Given the description of an element on the screen output the (x, y) to click on. 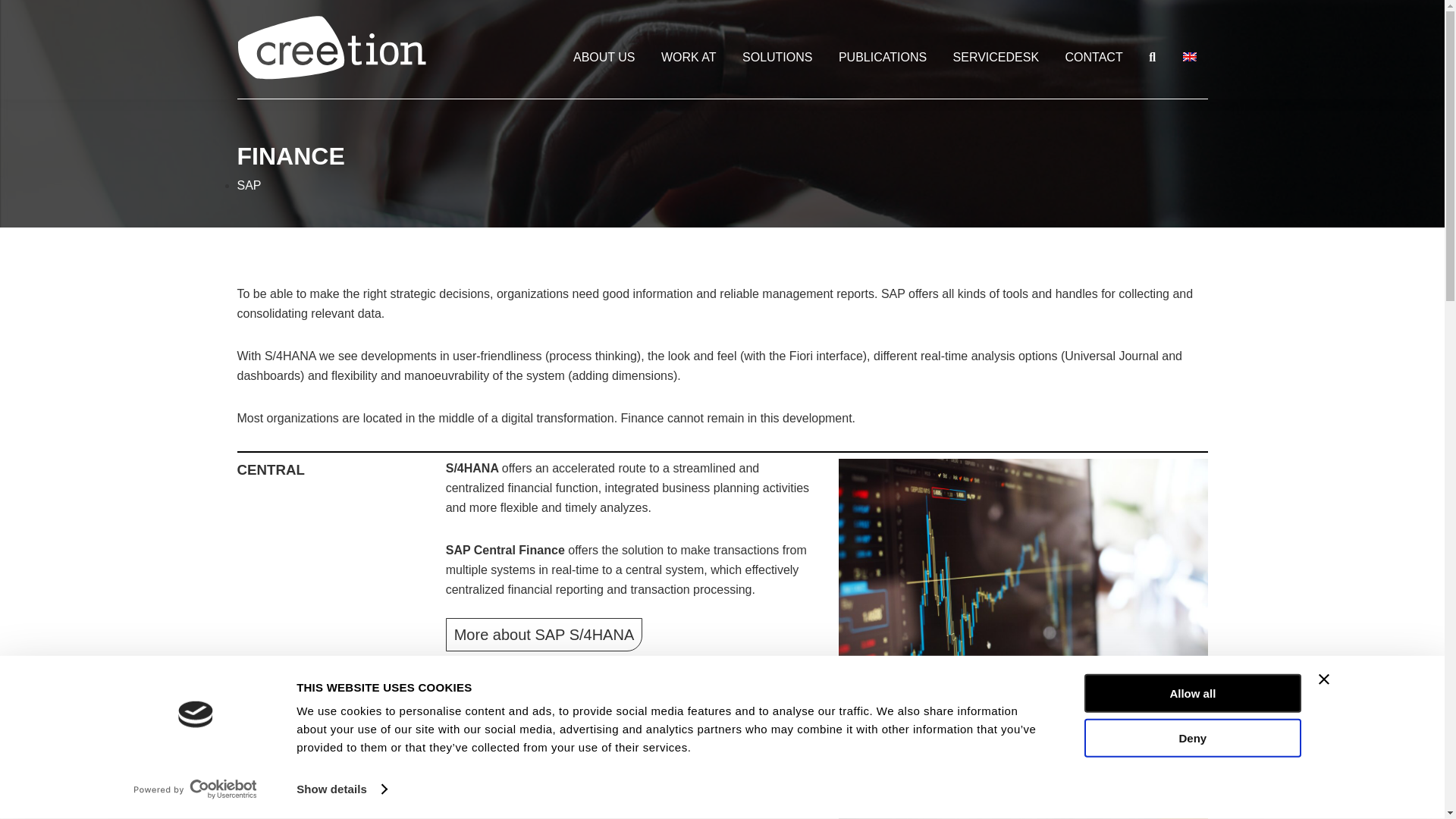
ABOUT US (604, 57)
Deny (1191, 737)
WORK AT (688, 57)
Creetion (330, 52)
SOLUTIONS (777, 57)
Allow all (1191, 693)
Show details (341, 789)
